Given the description of an element on the screen output the (x, y) to click on. 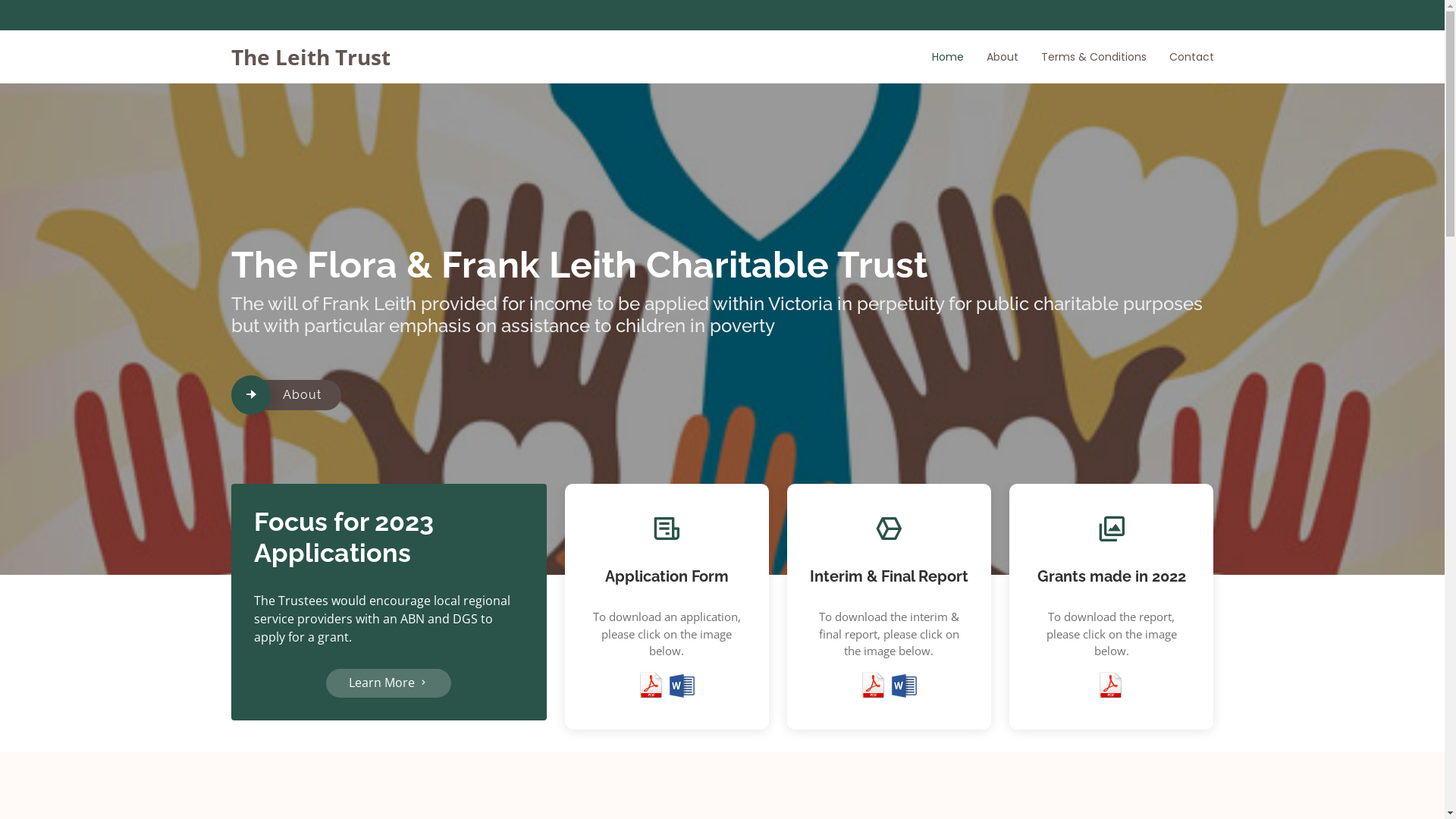
About Element type: text (301, 394)
Terms & Conditions Element type: text (1081, 56)
The Leith Trust Element type: text (309, 56)
Learn More Element type: text (388, 682)
About Element type: text (990, 56)
Home Element type: text (935, 56)
Contact Element type: text (1180, 56)
